Given the description of an element on the screen output the (x, y) to click on. 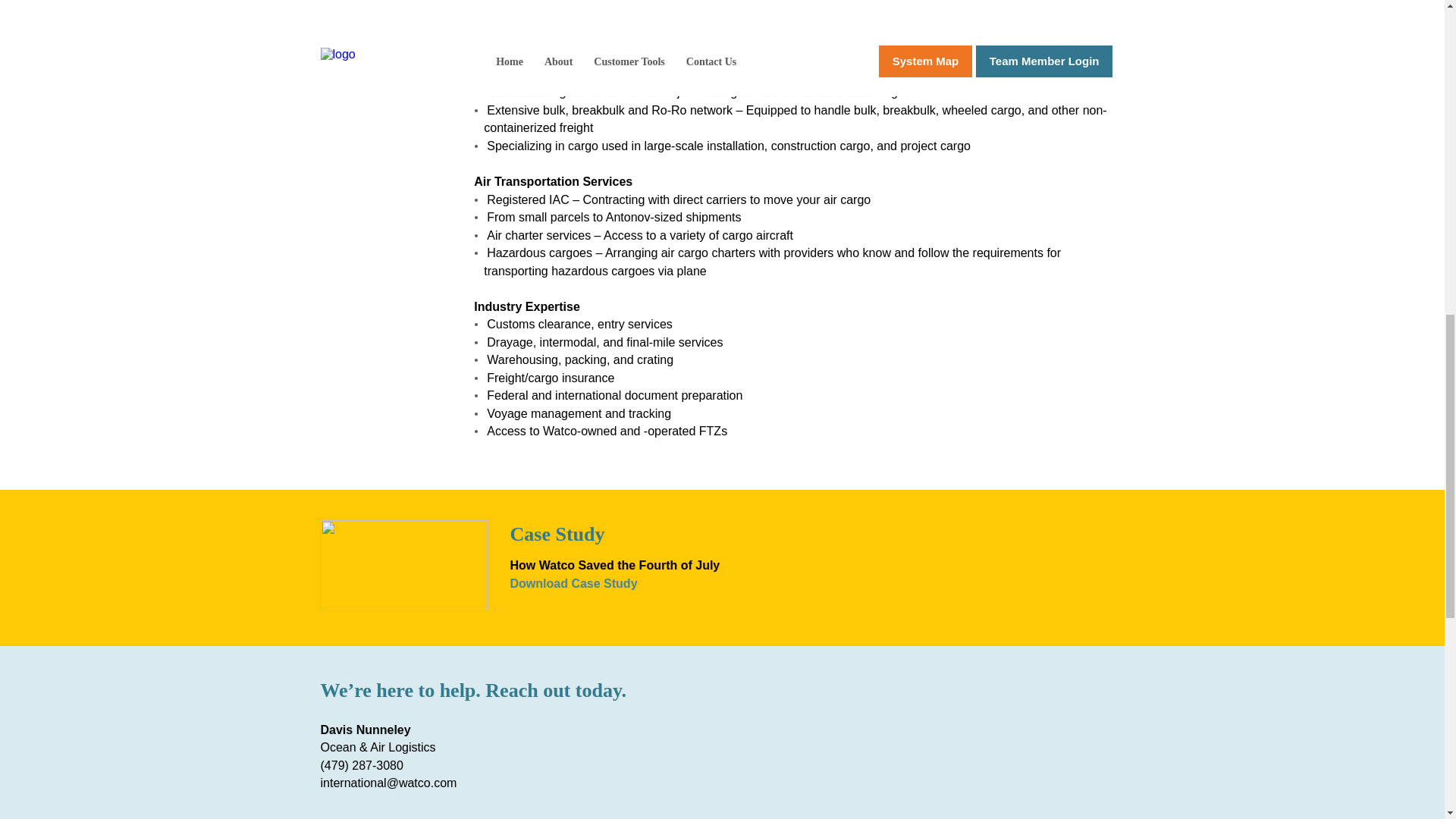
Download Case Study (573, 582)
